Given the description of an element on the screen output the (x, y) to click on. 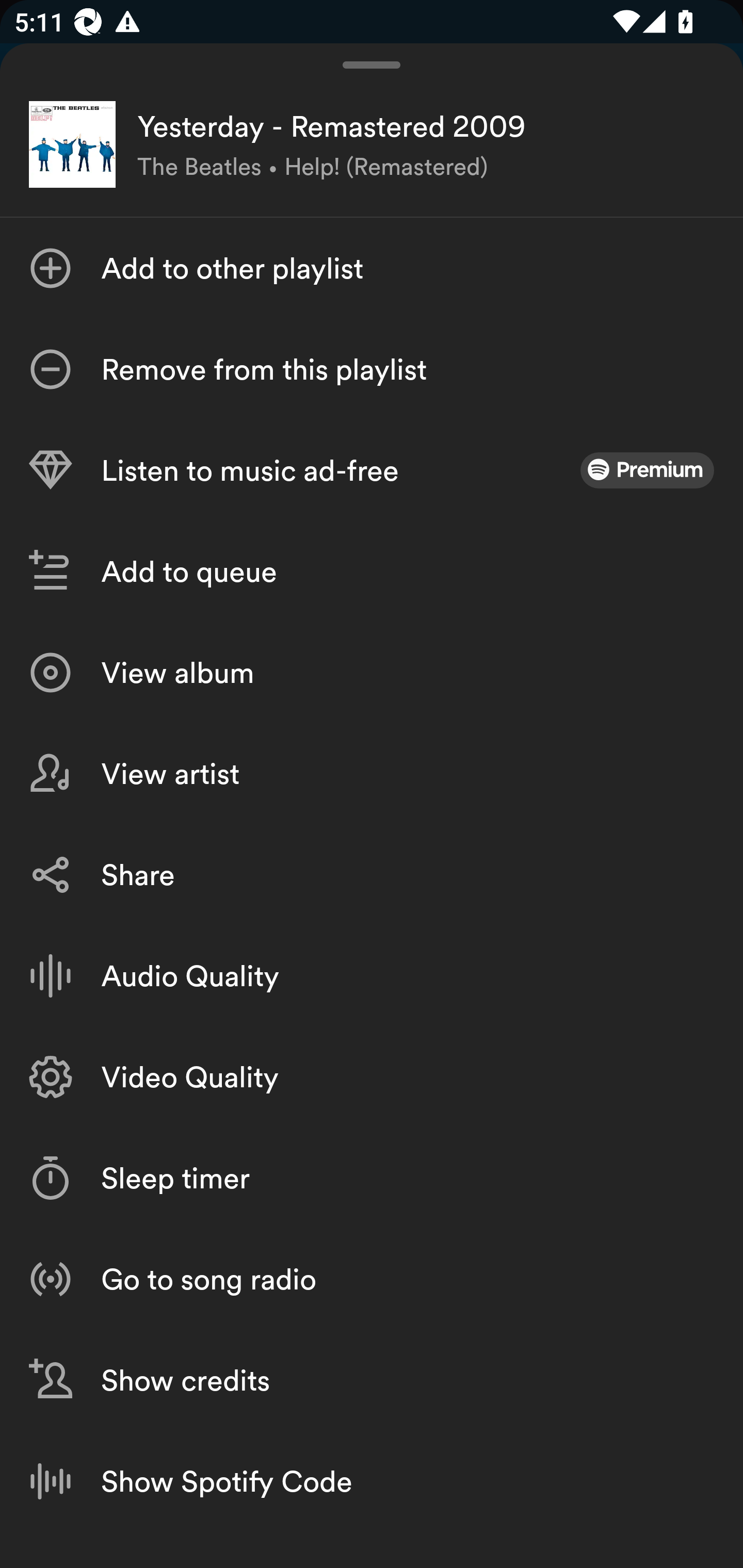
Add to other playlist (371, 267)
Remove from this playlist (371, 369)
Listen to music ad-free (371, 470)
Add to queue (371, 571)
View album (371, 672)
View artist (371, 773)
Share (371, 874)
Audio Quality (371, 976)
Video Quality (371, 1077)
Sleep timer (371, 1178)
Go to song radio (371, 1279)
Show credits (371, 1379)
Show Spotify Code (371, 1480)
